Given the description of an element on the screen output the (x, y) to click on. 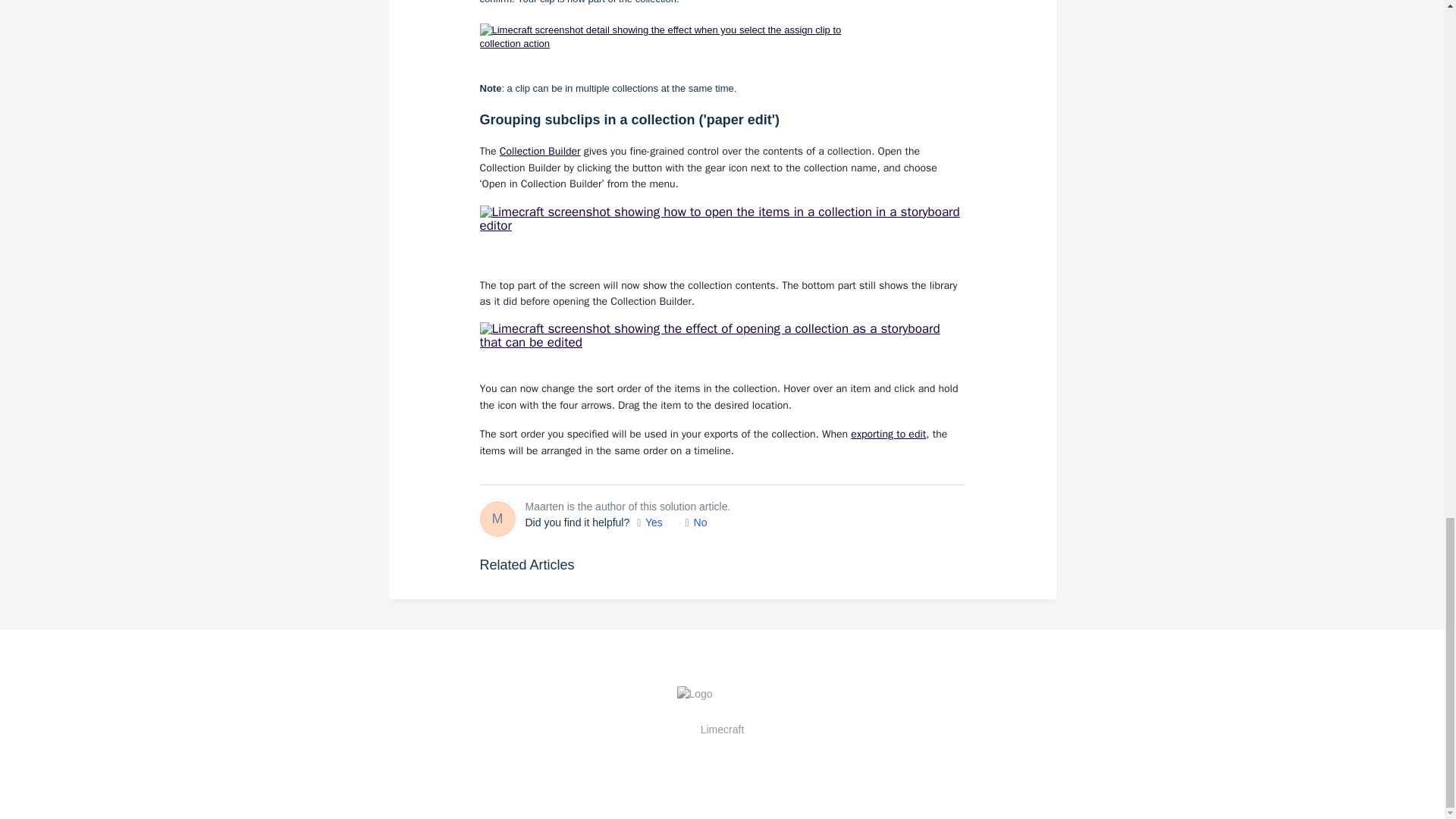
Limecraft (722, 729)
Collection Builder (539, 151)
exporting to edit (888, 433)
